Given the description of an element on the screen output the (x, y) to click on. 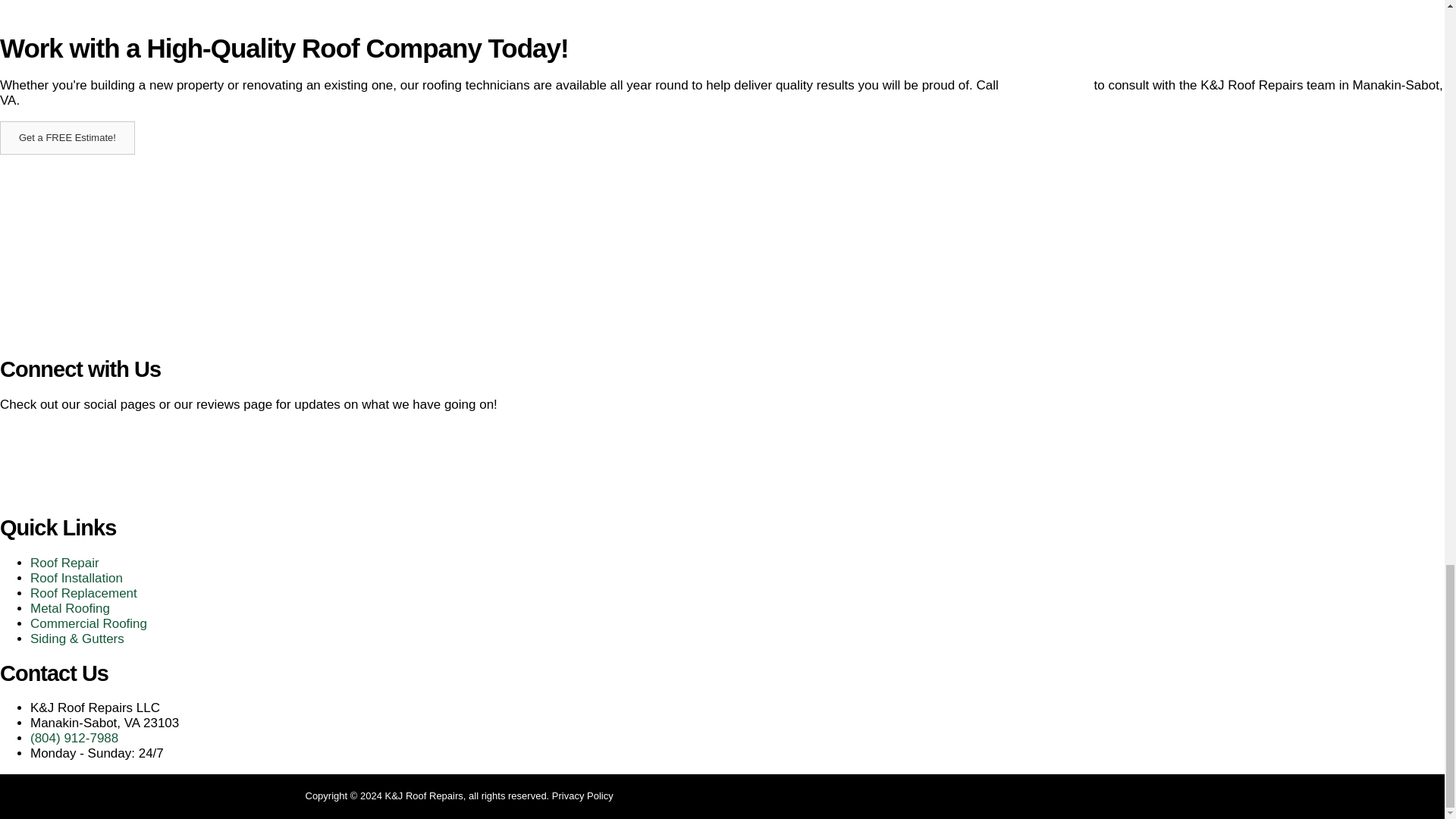
Roof Repair (64, 563)
Get a FREE Estimate! (67, 137)
Click Here (67, 137)
Roof Installation (76, 577)
Roof Replacement (83, 593)
Metal Roofing (70, 608)
